Given the description of an element on the screen output the (x, y) to click on. 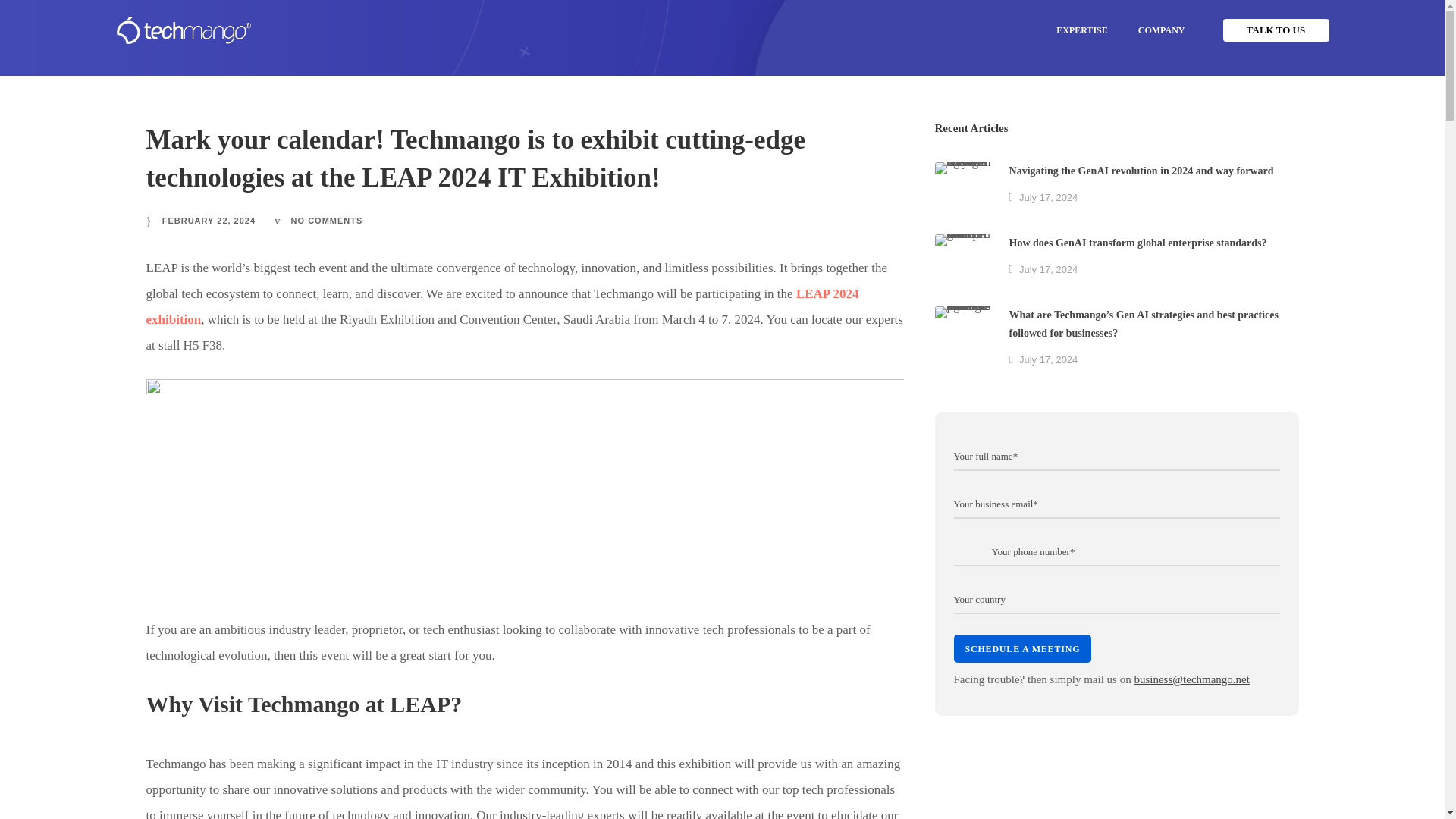
EXPERTISE (1081, 29)
Schedule a Meeting (1022, 648)
TALK TO US (1275, 29)
COMPANY (1160, 29)
Navigating the GenAI revolution in 2024 and way forward (962, 190)
How GenAI transforms global enterprise standards (962, 262)
